Given the description of an element on the screen output the (x, y) to click on. 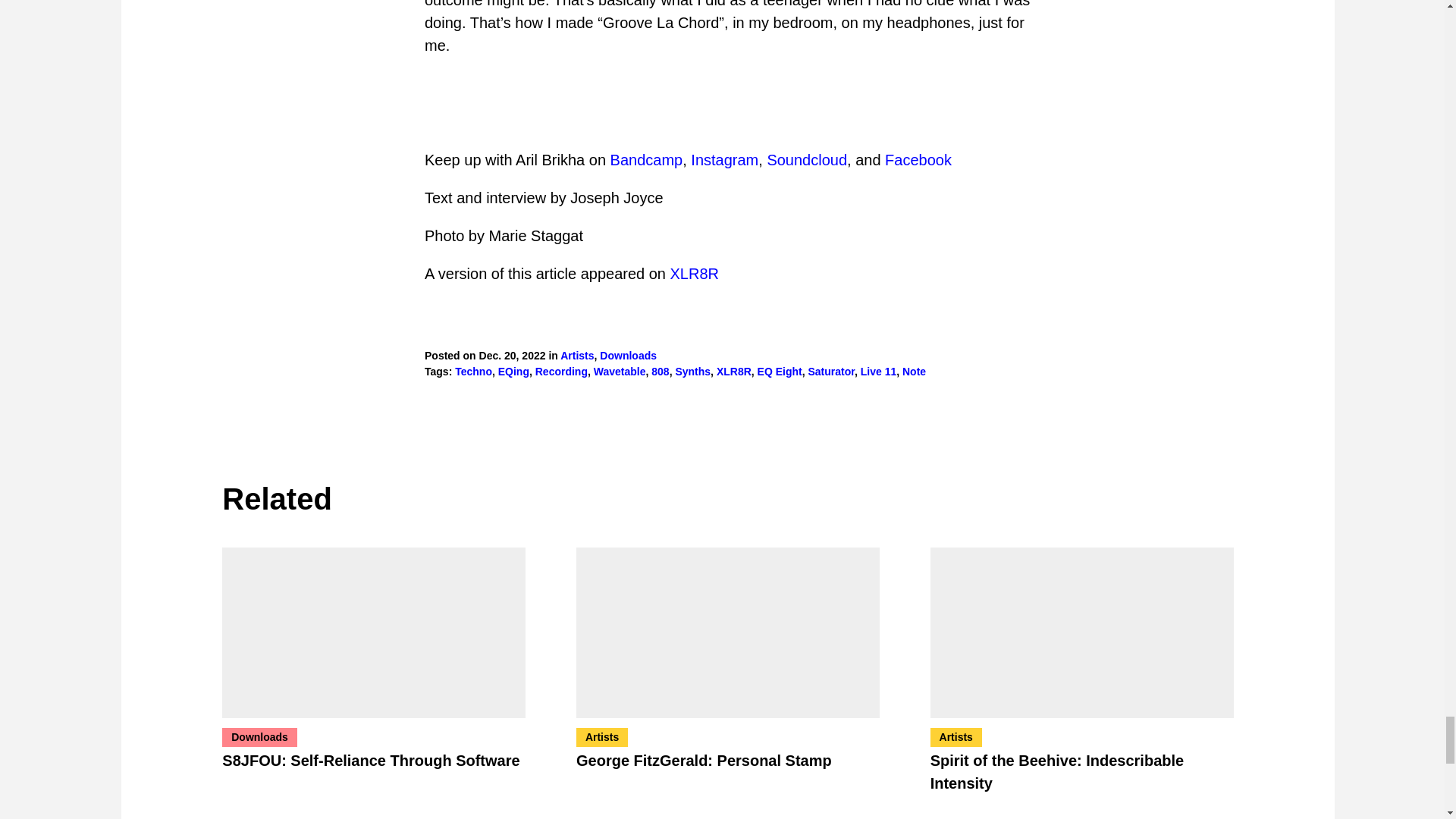
View posts with tag Techno (473, 371)
View posts with tag Wavetable (620, 371)
View posts with tag XLR8R (733, 371)
View posts with tag Recording (561, 371)
View posts with tag Saturator (830, 371)
View posts in category Downloads (627, 355)
View posts with tag EQ Eight (779, 371)
View posts with tag Live 11 (878, 371)
View posts with tag Synths (692, 371)
View posts with tag Note (914, 371)
